Given the description of an element on the screen output the (x, y) to click on. 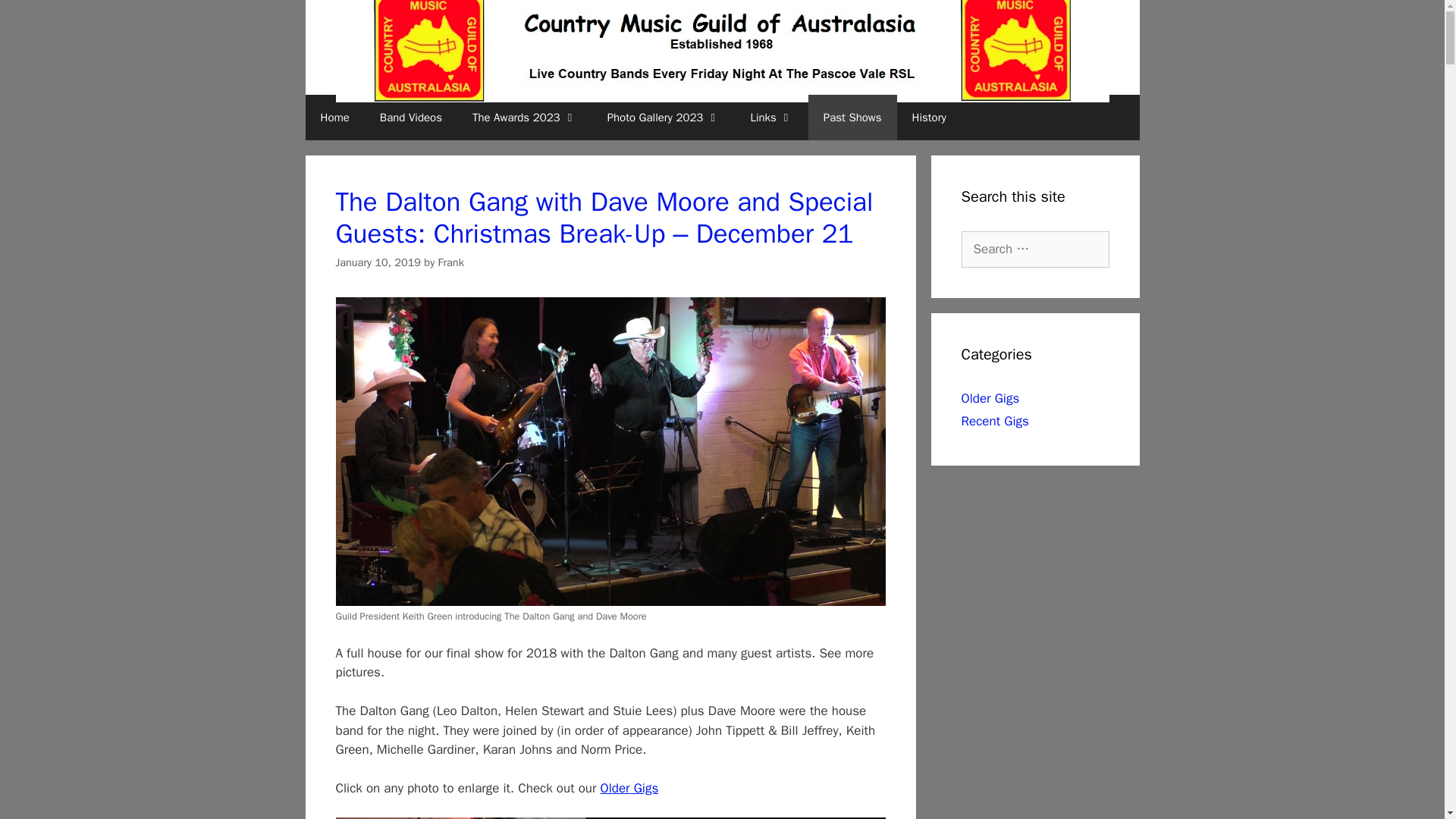
The Awards 2023 (524, 117)
Frank (451, 262)
Home (334, 117)
History (928, 117)
Band Videos (411, 117)
View all posts by Frank (451, 262)
Older Gigs (629, 788)
Links (771, 117)
Photo Gallery 2023 (663, 117)
Search for: (1034, 248)
Past Shows (852, 117)
